Given the description of an element on the screen output the (x, y) to click on. 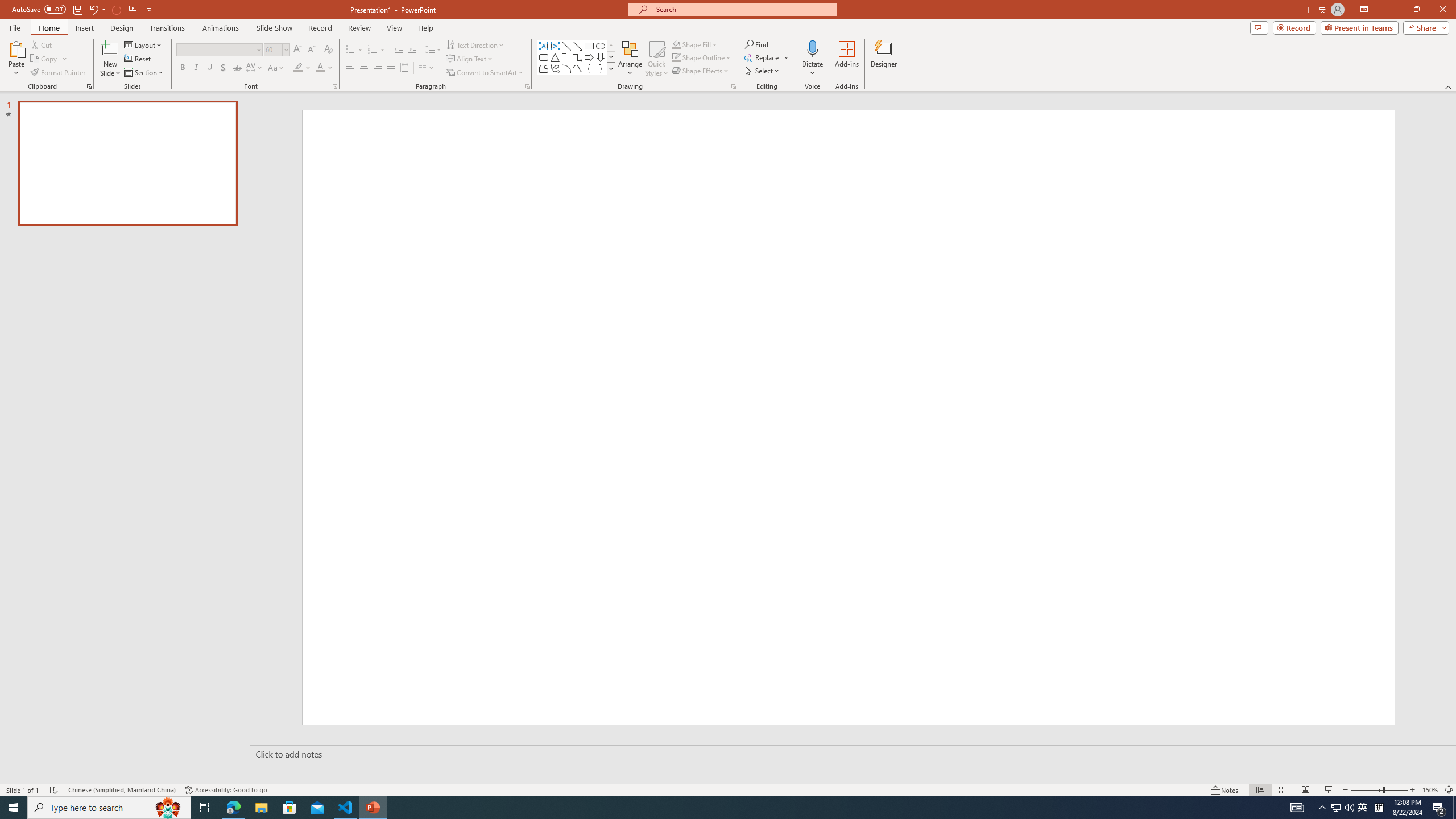
Shape Fill Orange, Accent 2 (675, 44)
